Given the description of an element on the screen output the (x, y) to click on. 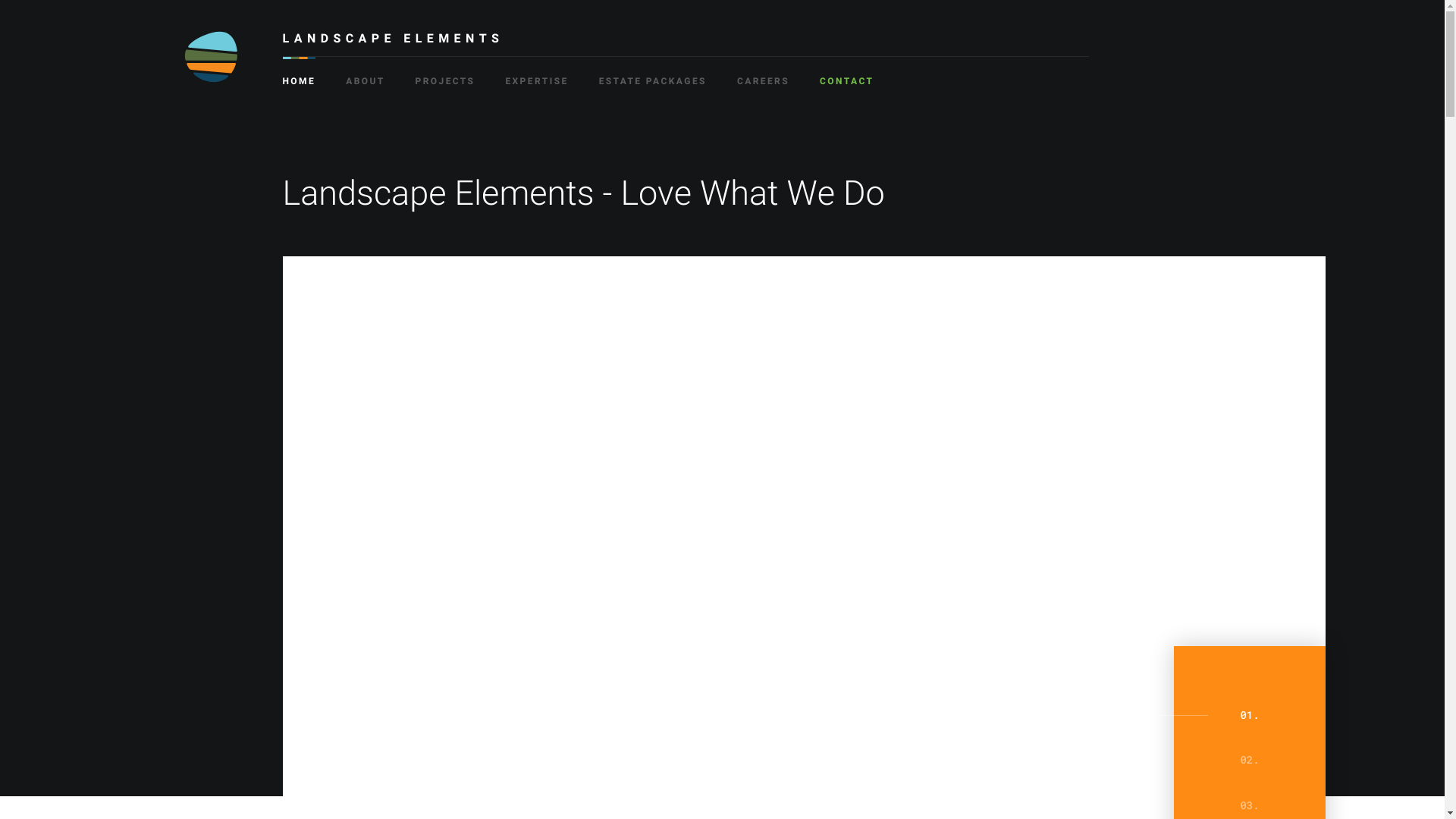
Landscape Elements Element type: text (209, 56)
1. Element type: text (1248, 713)
CAREERS Element type: text (763, 72)
ESTATE PACKAGES Element type: text (652, 72)
PROJECTS Element type: text (445, 72)
CURENT PAGE
HOME Element type: text (298, 72)
EXPERTISE Element type: text (536, 72)
2. Element type: text (1248, 759)
3. Element type: text (1248, 804)
CONTACT Element type: text (846, 72)
LANDSCAPE ELEMENTS Element type: text (392, 44)
ABOUT Element type: text (364, 72)
